Given the description of an element on the screen output the (x, y) to click on. 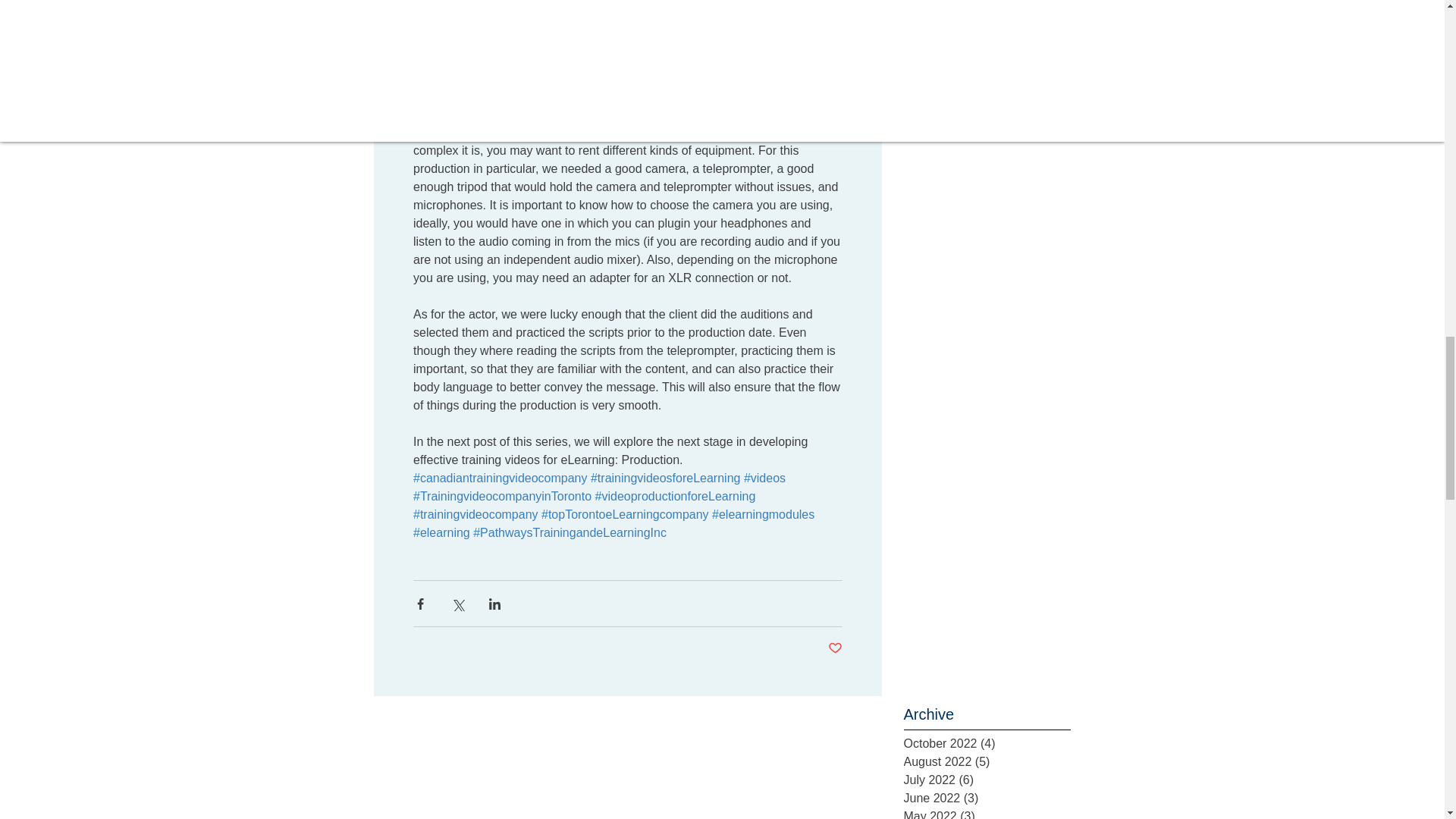
Post not marked as liked (835, 648)
